Given the description of an element on the screen output the (x, y) to click on. 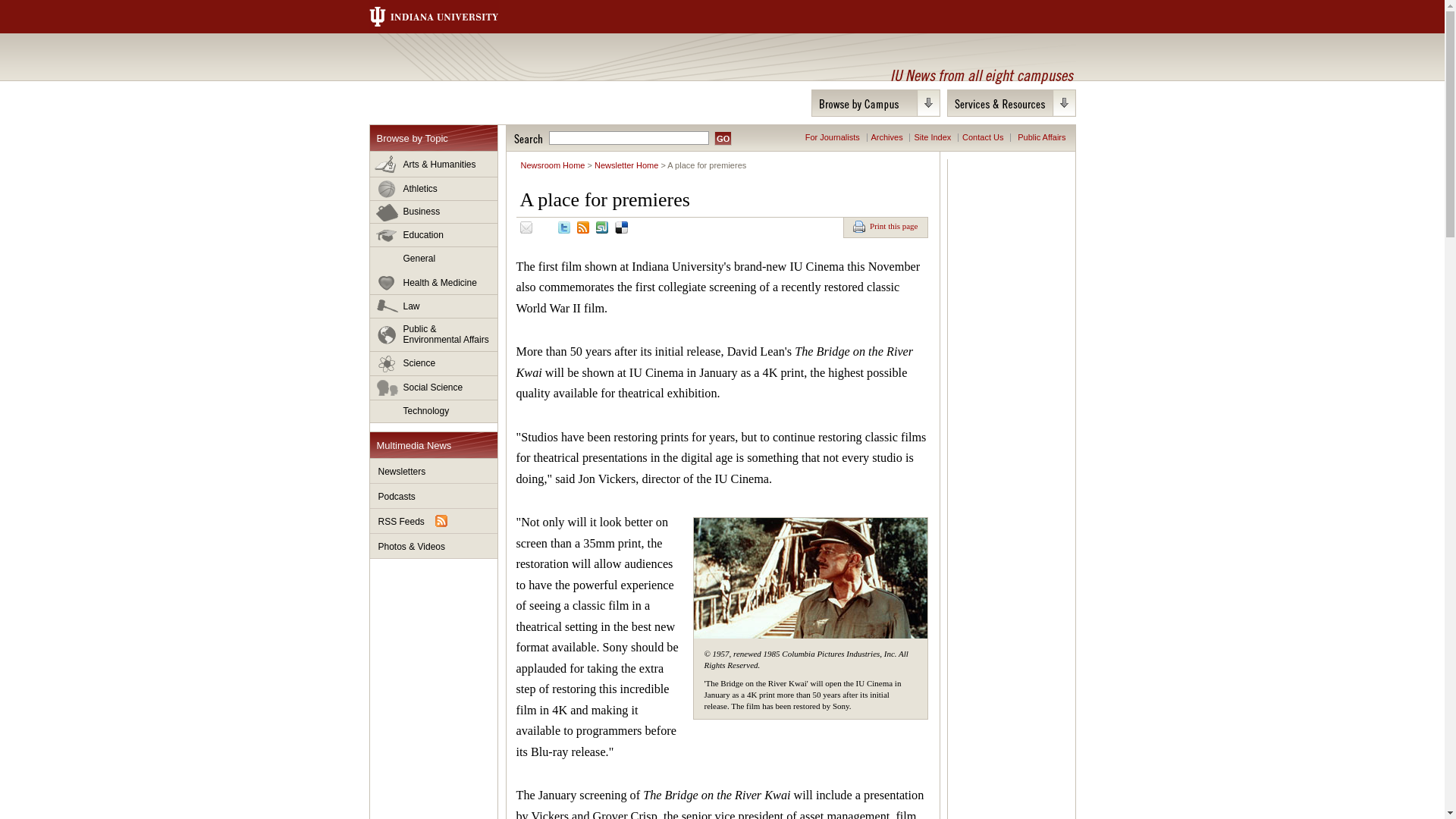
Science (433, 363)
Technology (433, 411)
Business (433, 211)
IU News Room (455, 69)
Law (433, 306)
Newsletters (433, 471)
Education (433, 235)
RSS Feeds (433, 520)
IU News Room (455, 69)
Education (433, 235)
